Given the description of an element on the screen output the (x, y) to click on. 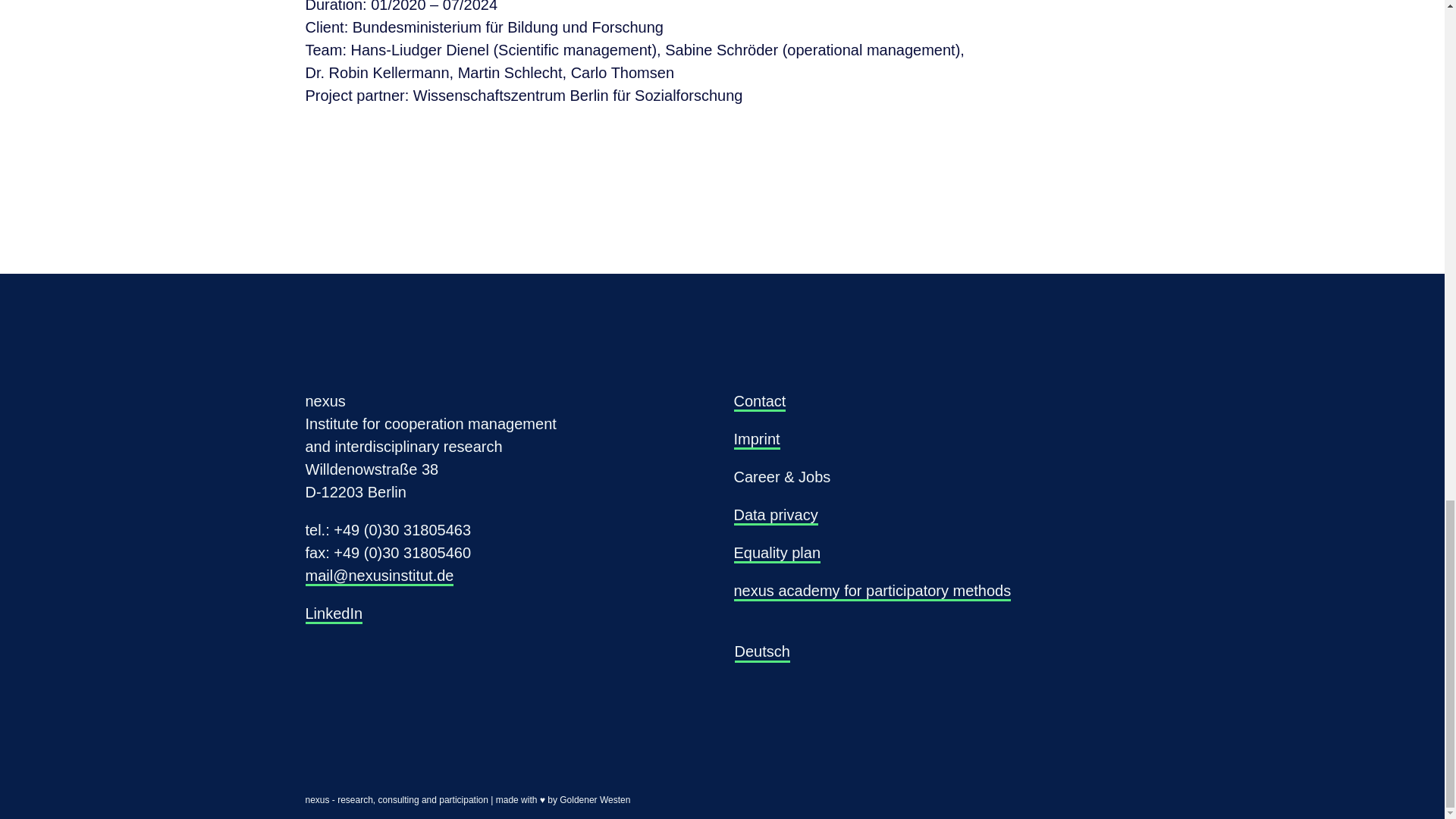
Equality plan (777, 553)
Contact (759, 402)
Deutsch (761, 651)
Imprint (756, 439)
LinkedIn (333, 614)
Goldener Westen (594, 799)
nexus academy for participatory methods (872, 591)
Data privacy (775, 515)
